Given the description of an element on the screen output the (x, y) to click on. 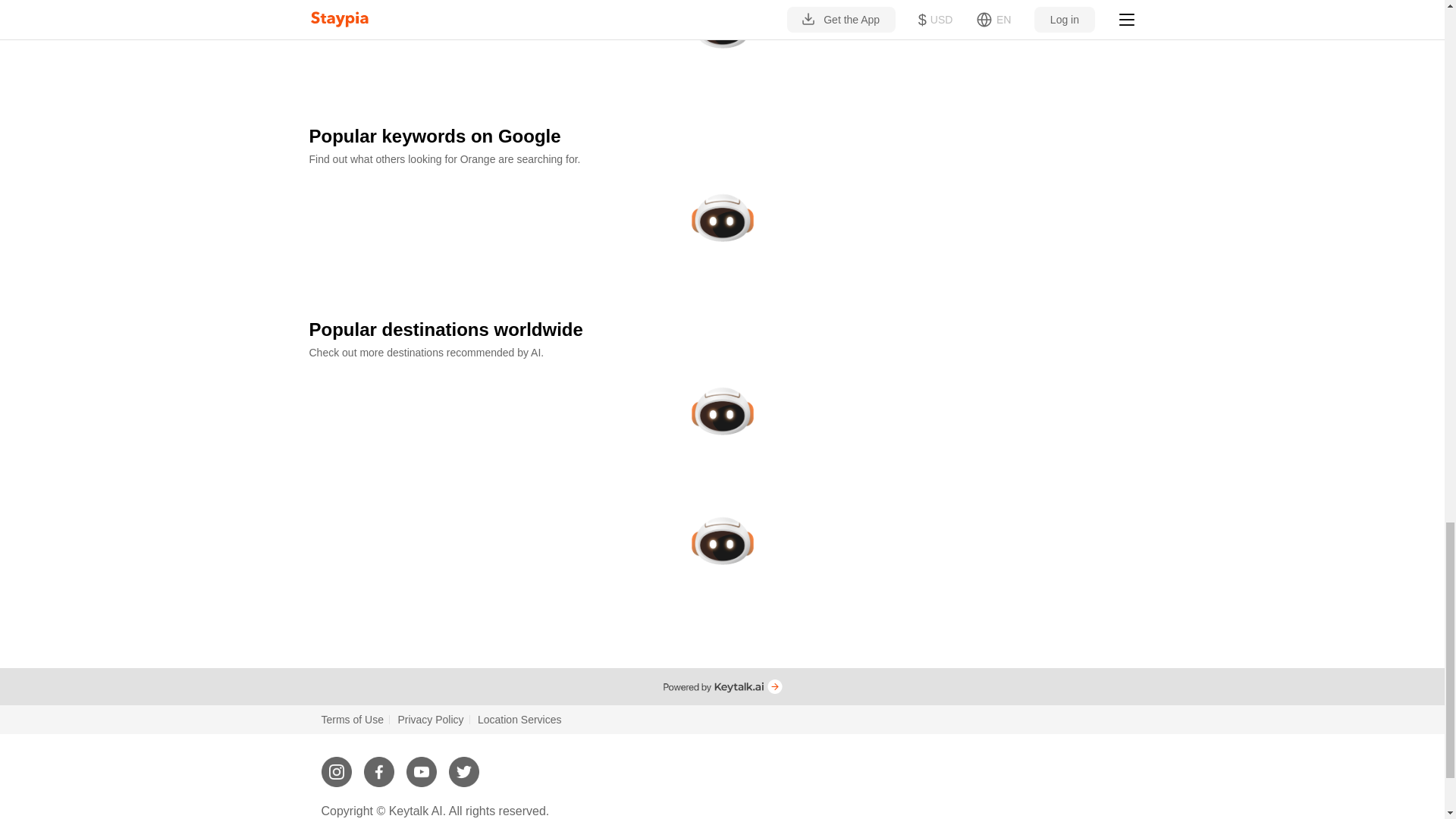
twitter (463, 765)
instagram (336, 765)
Location Services (519, 719)
Terms of Use (352, 719)
Privacy Policy (430, 719)
youtube (421, 765)
facebook (379, 765)
